Given the description of an element on the screen output the (x, y) to click on. 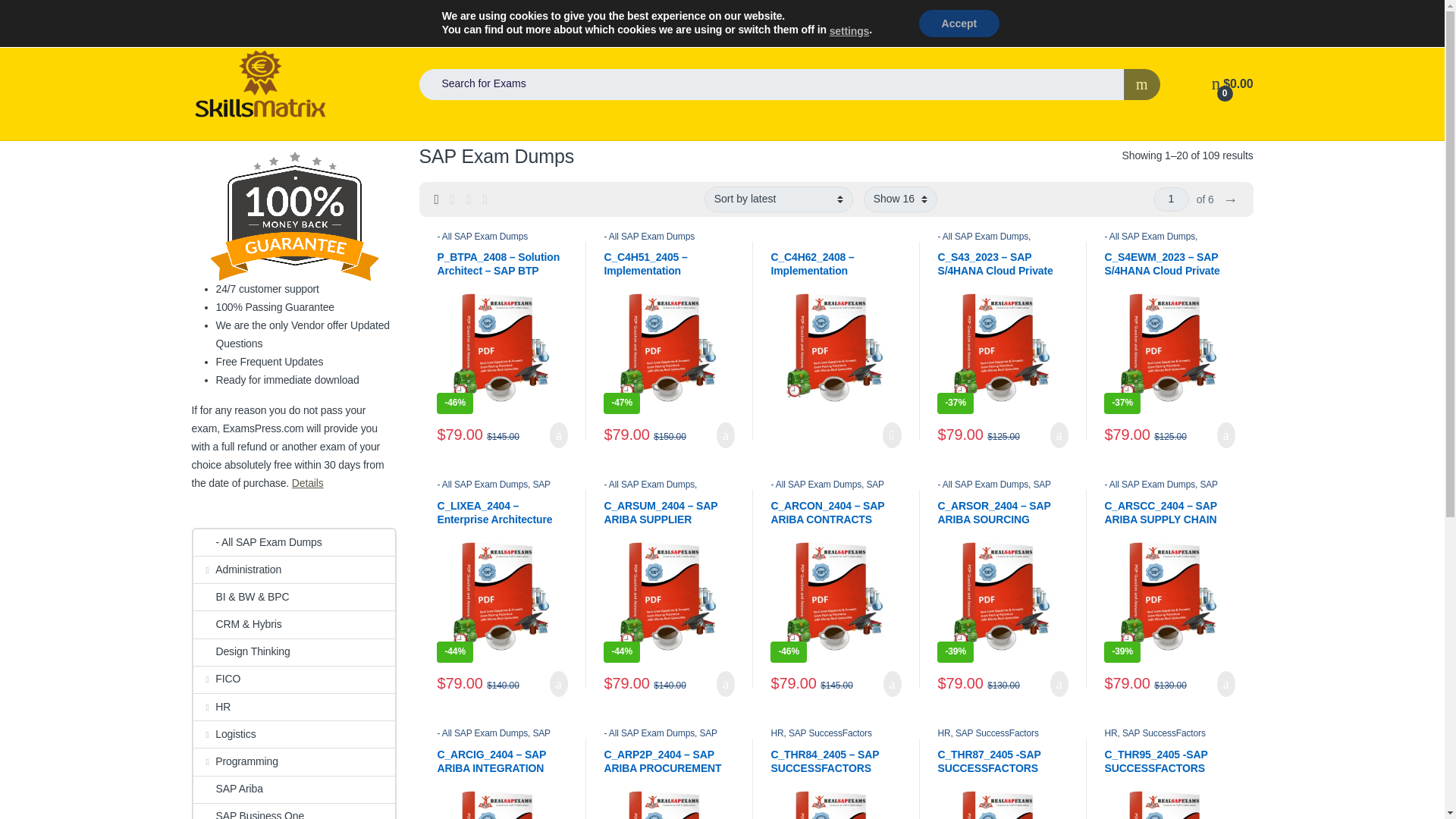
Terms of Service (1155, 13)
Home (203, 13)
Privacy Policy (1066, 13)
About Us (1232, 13)
Wishlist Exams (443, 13)
Contact Us (616, 13)
Request an Exam (349, 13)
- All SAP Exam Dumps (649, 235)
Request an Exam (349, 13)
My Account (264, 13)
